Given the description of an element on the screen output the (x, y) to click on. 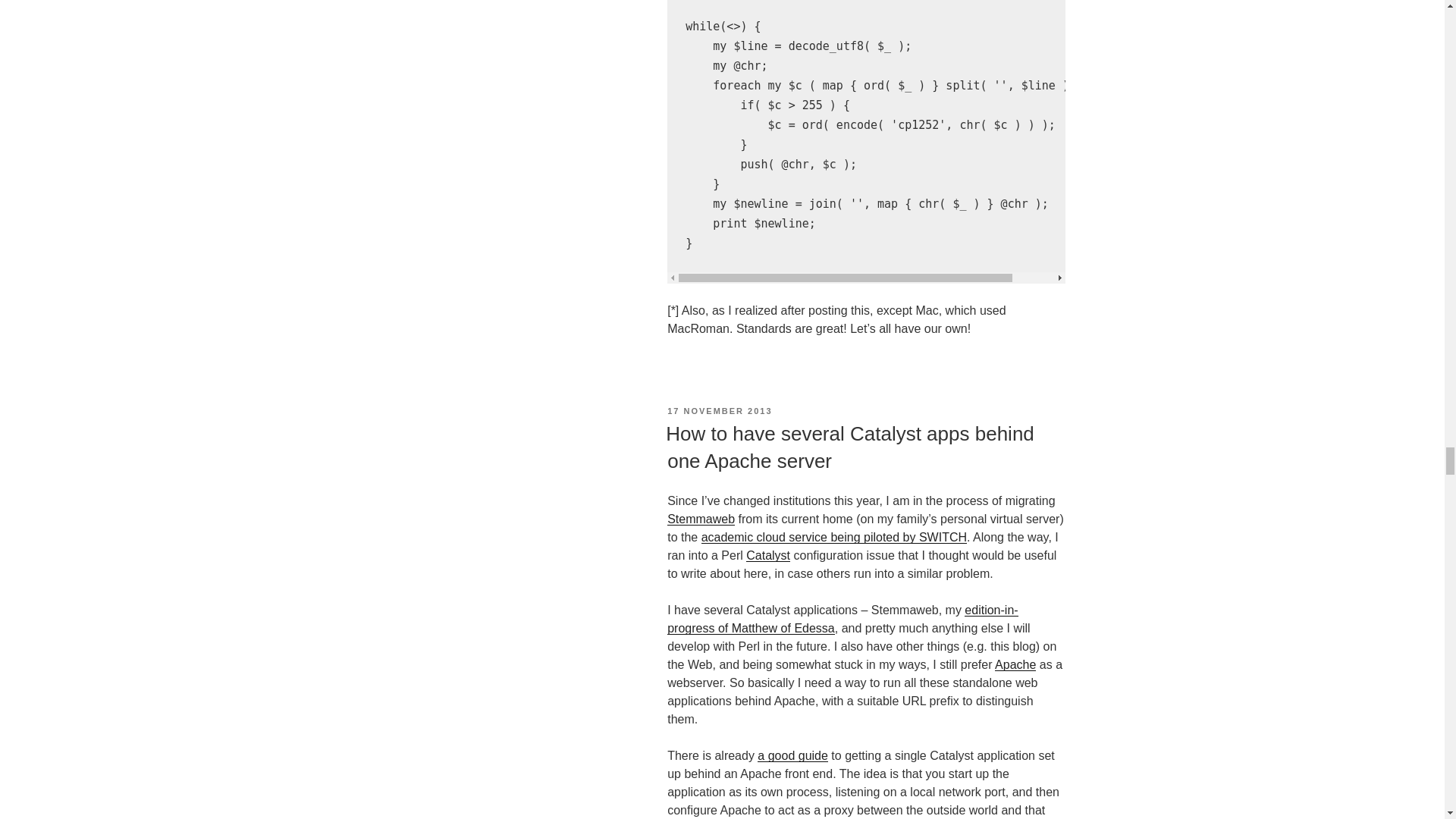
academic cloud service being piloted by SWITCH (833, 536)
17 NOVEMBER 2013 (718, 410)
How to have several Catalyst apps behind one Apache server (849, 447)
Catalyst (767, 554)
Stemmaweb (700, 518)
Apache (1014, 664)
a good guide (792, 755)
edition-in-progress of Matthew of Edessa (841, 618)
